Given the description of an element on the screen output the (x, y) to click on. 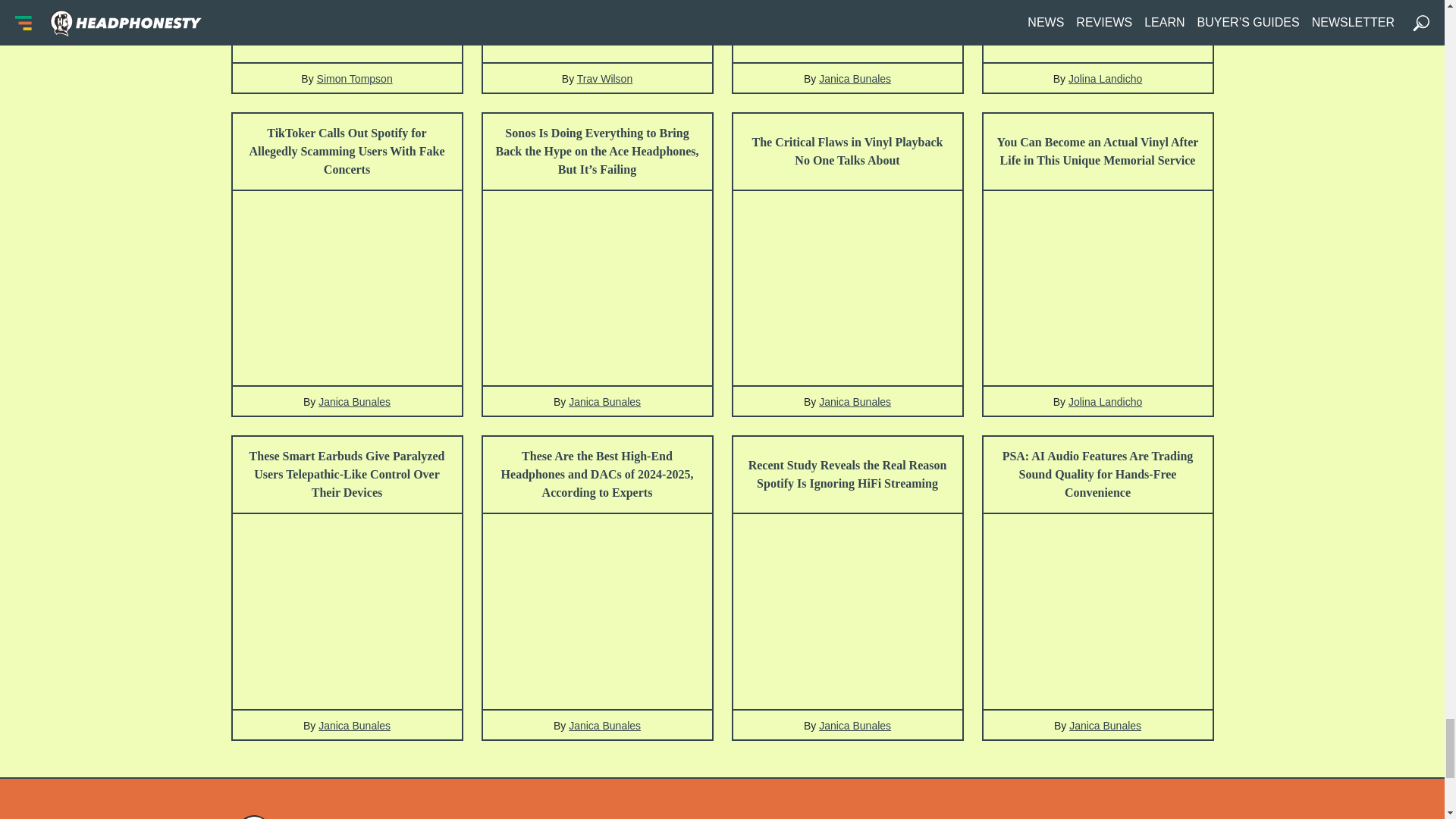
The Critical Flaws in Vinyl Playback No One Talks About (846, 151)
